Given the description of an element on the screen output the (x, y) to click on. 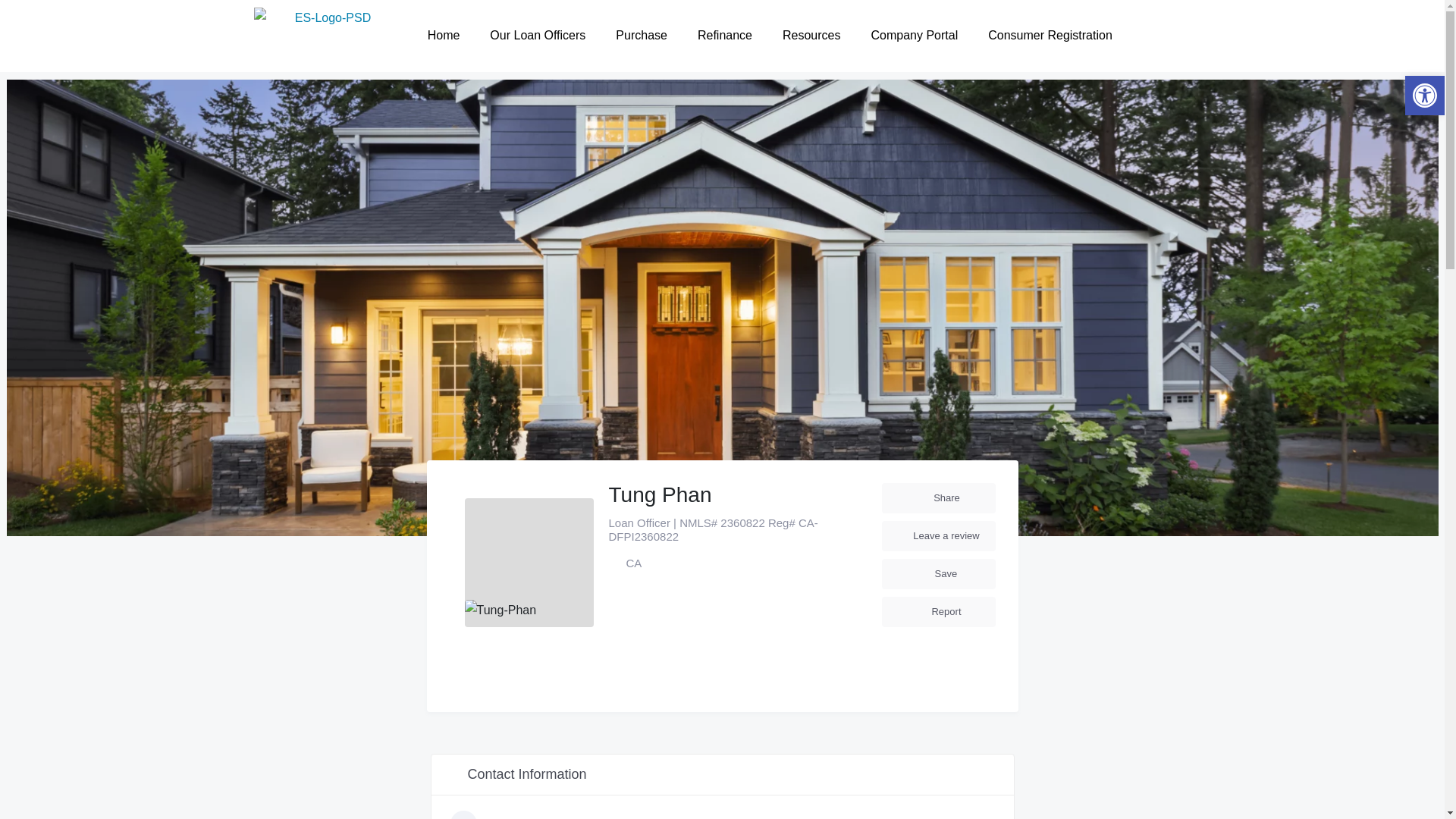
Refinance (724, 35)
Accessibility Tools (1424, 95)
Purchase (640, 35)
Home (444, 35)
Resources (811, 35)
Our Loan Officers (536, 35)
